Given the description of an element on the screen output the (x, y) to click on. 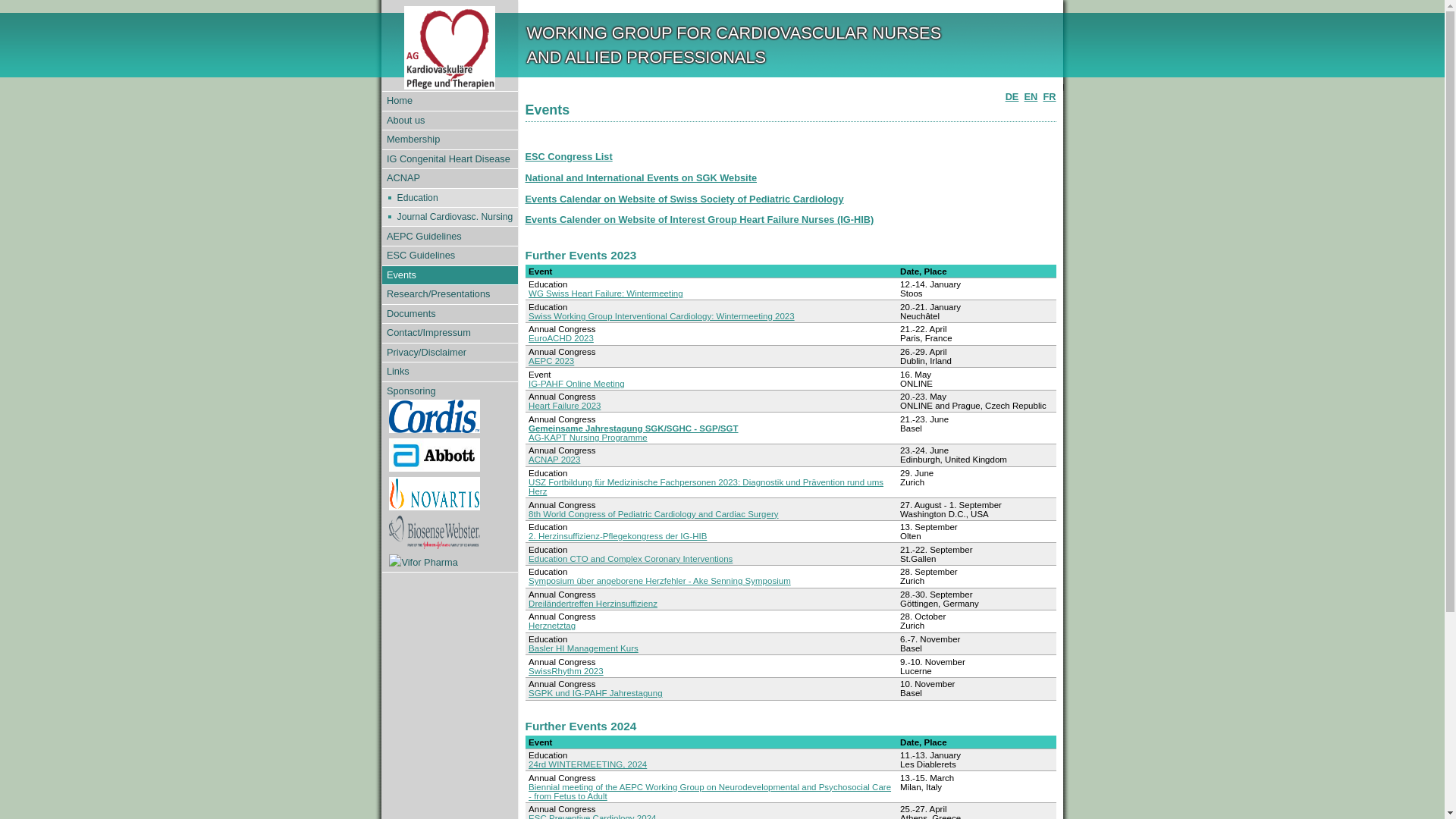
Journal Cardiovasc. Nursing Element type: text (454, 216)
IG-PAHF Online Meeting Element type: text (576, 383)
Heart Failure 2023 Element type: text (564, 405)
Research/Presentations Element type: text (449, 294)
About us Element type: text (449, 120)
Links Element type: text (449, 371)
24rd WINTERMEETING, 2024 Element type: text (587, 763)
Events Element type: text (449, 275)
Gemeinsame Jahrestagung SGK/SGHC - SGP/SGT Element type: text (632, 428)
AG-KAPT Nursing Programme Element type: text (587, 437)
EN Element type: text (1031, 96)
National and International Events on SGK Website Element type: text (640, 177)
Sponsoring
 
 
 
 
  Element type: text (449, 477)
AEPC Guidelines Element type: text (449, 235)
AEPC 2023 Element type: text (551, 360)
DE Element type: text (1012, 96)
2. Herzinsuffizienz-Pflegekongress der IG-HIB Element type: text (617, 535)
Education CTO and Complex Coronary Interventions Element type: text (630, 558)
Contact/Impressum Element type: text (449, 332)
ESC Congress List Element type: text (567, 156)
Privacy/Disclaimer Element type: text (449, 352)
Basler HI Management Kurs Element type: text (583, 647)
EuroACHD 2023 Element type: text (560, 337)
FR Element type: text (1048, 96)
Herznetztag Element type: text (551, 625)
Home Element type: text (449, 100)
IG Congenital Heart Disease Element type: text (449, 159)
ACNAP Element type: text (449, 178)
ESC Guidelines Element type: text (449, 255)
SGPK und IG-PAHF Jahrestagung Element type: text (595, 692)
Education Element type: text (454, 197)
ACNAP 2023 Element type: text (554, 459)
Membership Element type: text (449, 139)
Documents Element type: text (449, 313)
SwissRhythm 2023 Element type: text (565, 670)
WG Swiss Heart Failure: Wintermeeting Element type: text (605, 293)
